Given the description of an element on the screen output the (x, y) to click on. 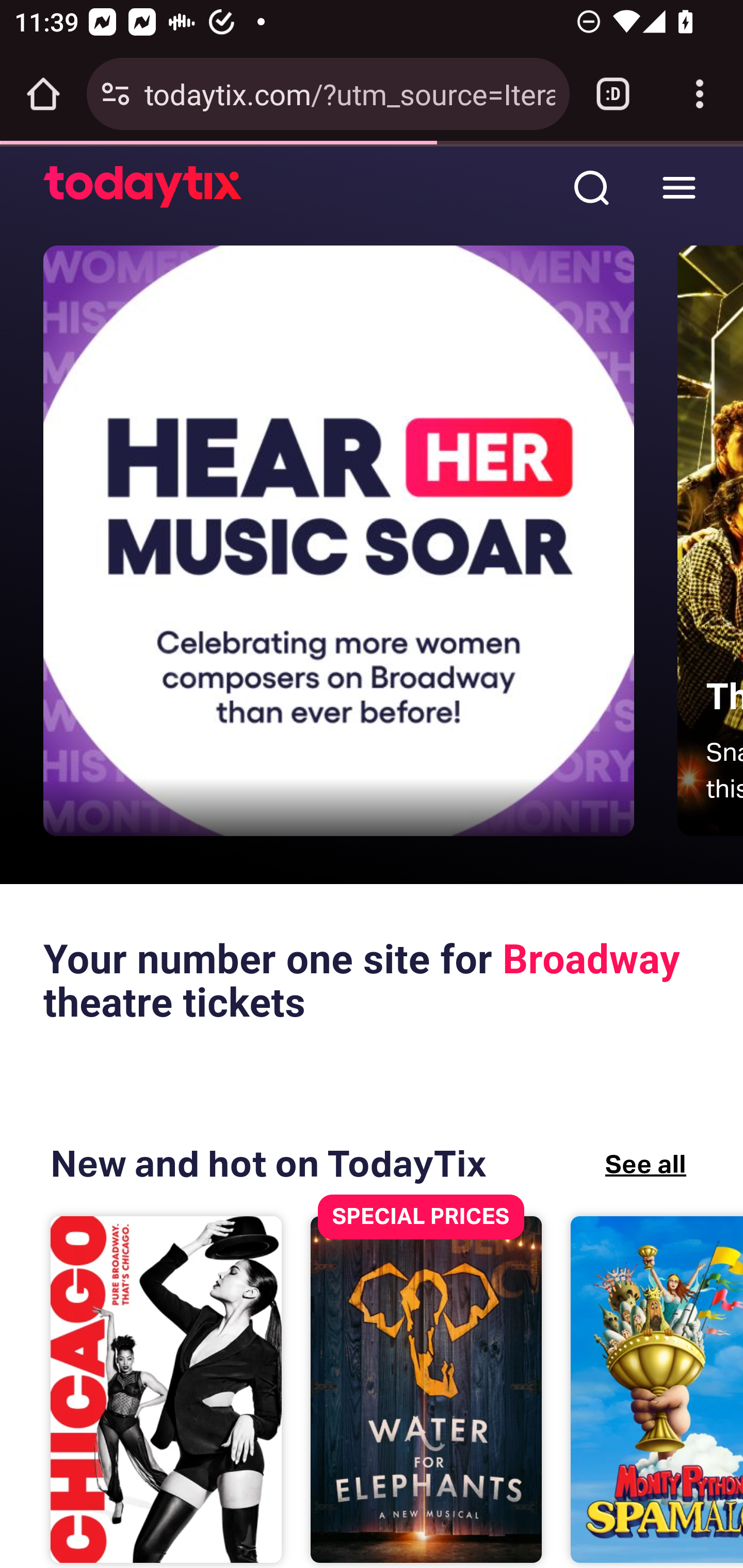
Open the home page (43, 93)
Connection is secure (115, 93)
Switch or close tabs (612, 93)
Customize and control Google Chrome (699, 93)
